Given the description of an element on the screen output the (x, y) to click on. 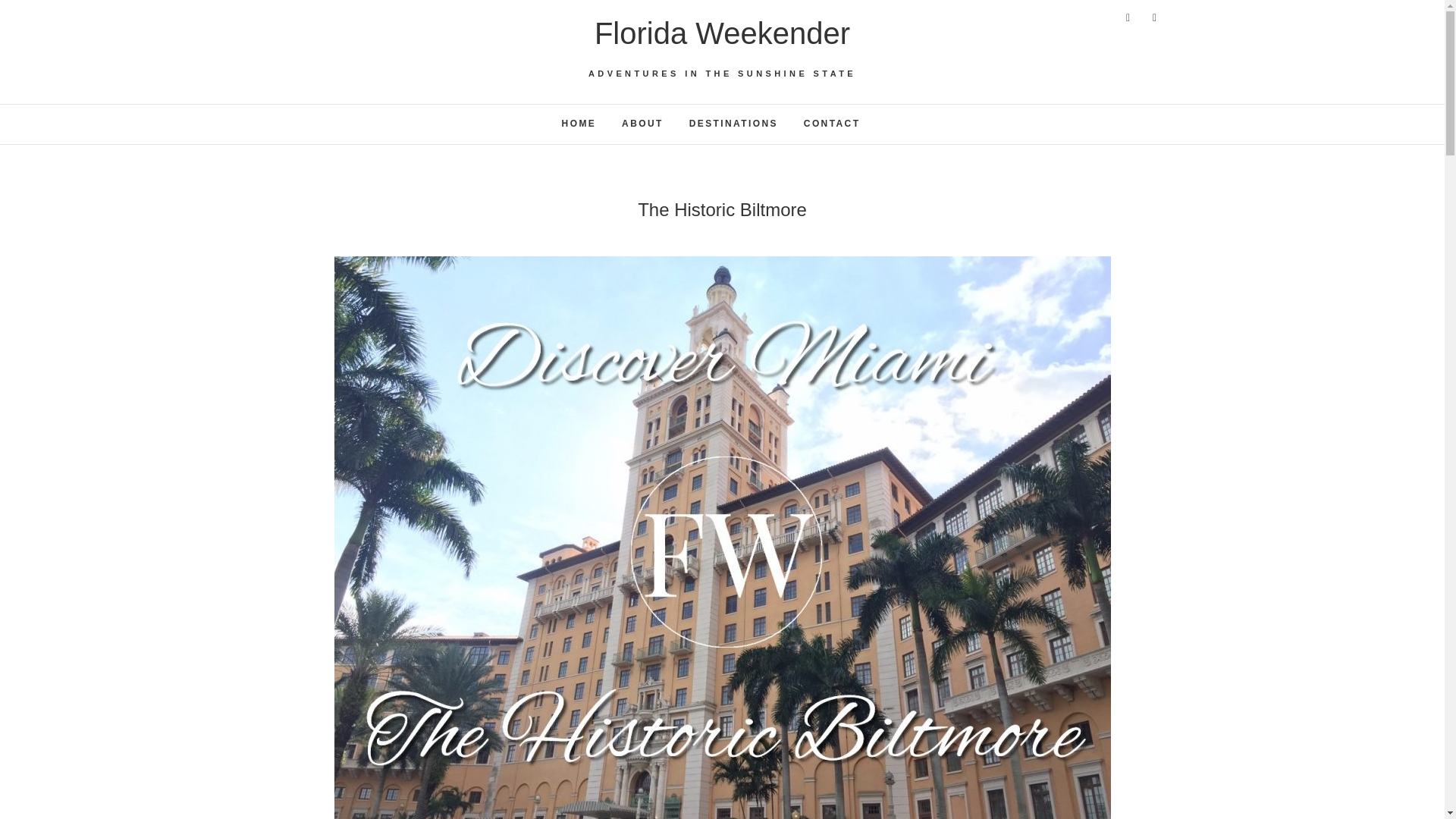
Florida Weekender (721, 33)
ABOUT (642, 124)
DESTINATIONS (733, 124)
Florida Weekender (721, 33)
HOME (579, 124)
CONTACT (832, 124)
